Given the description of an element on the screen output the (x, y) to click on. 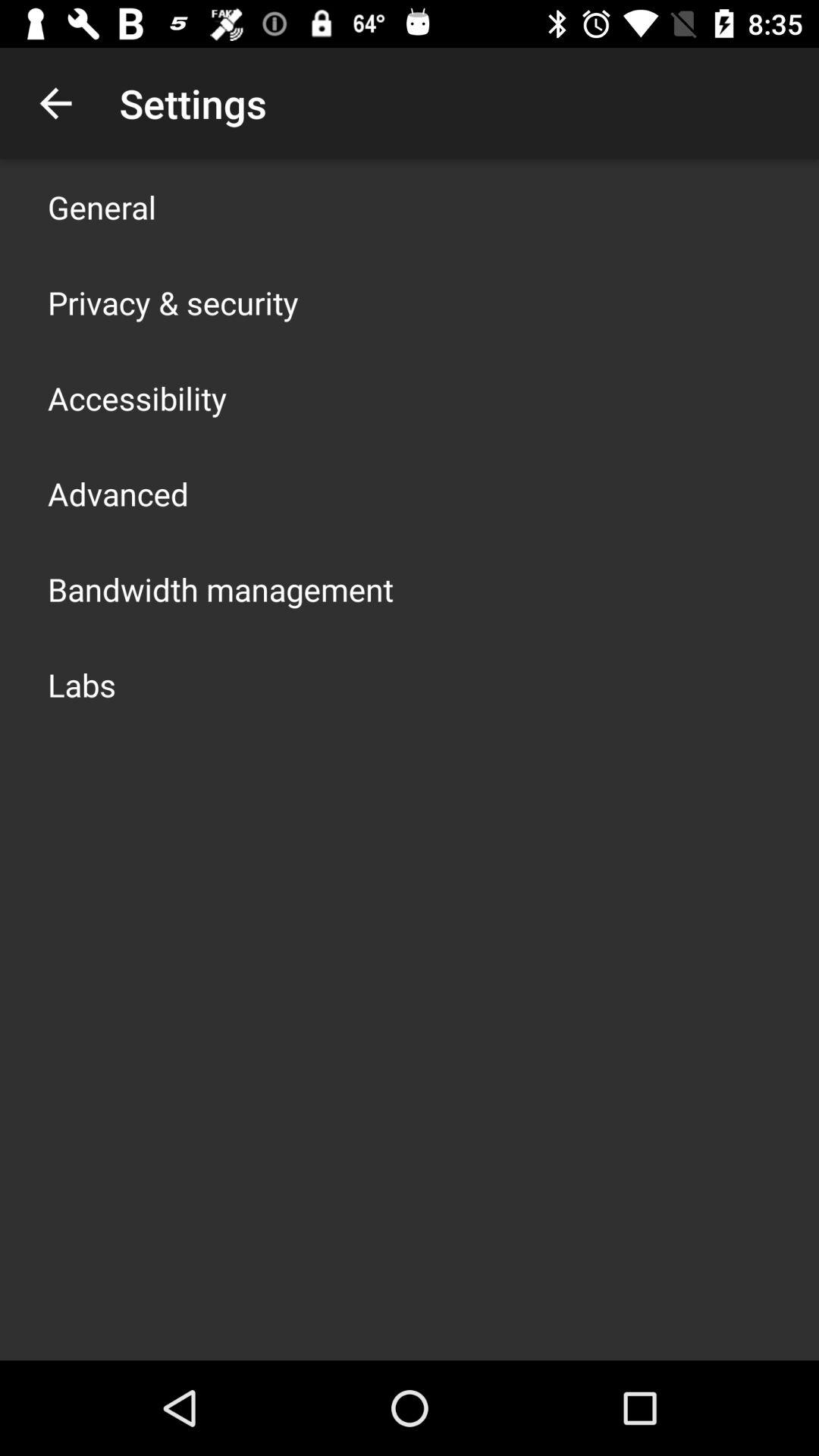
open the item above the privacy & security (101, 206)
